Given the description of an element on the screen output the (x, y) to click on. 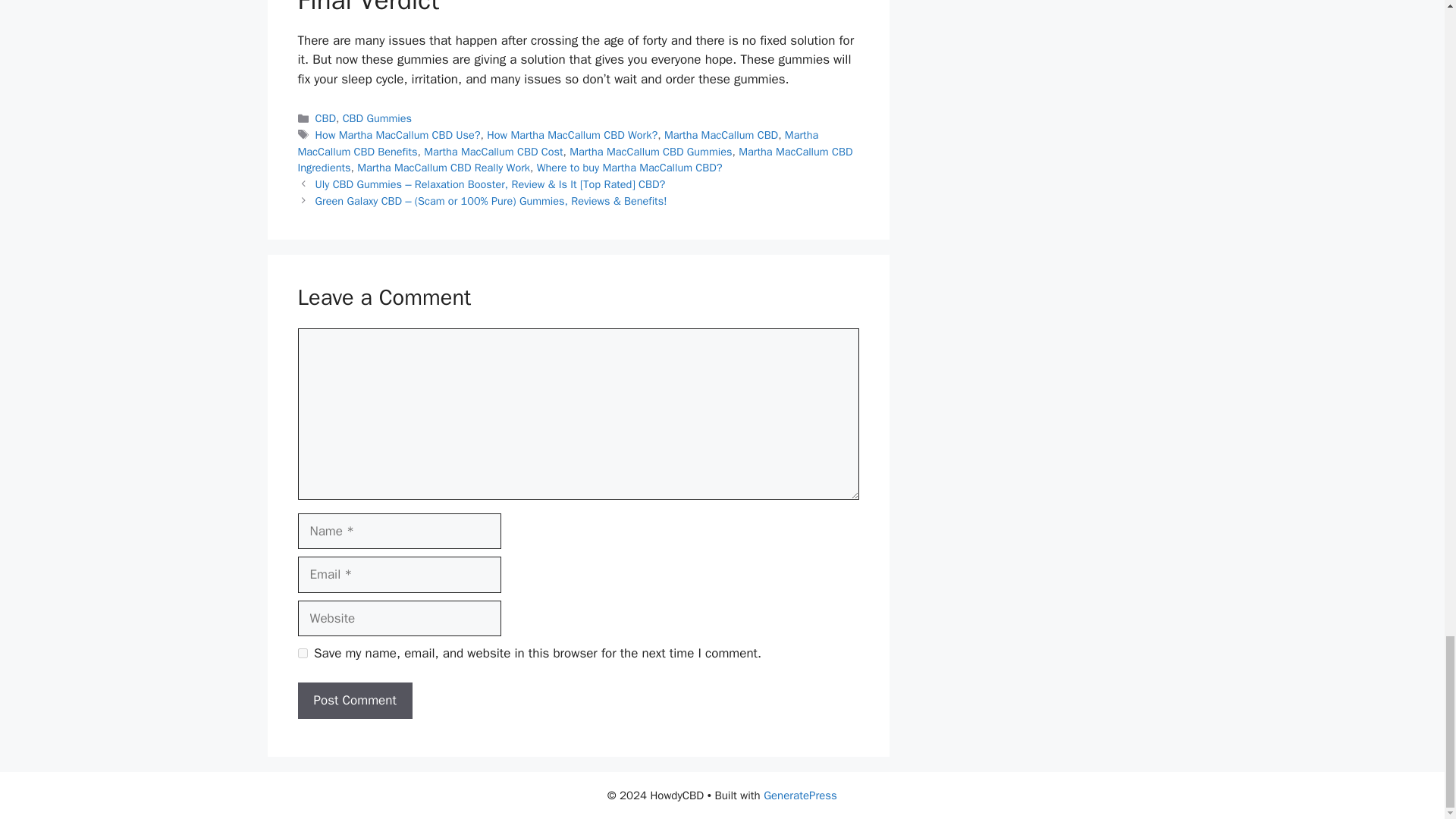
Martha MacCallum CBD Really Work (442, 167)
yes (302, 653)
How Martha MacCallum CBD Use? (397, 134)
Post Comment (354, 700)
Post Comment (354, 700)
How Martha MacCallum CBD Work? (572, 134)
Martha MacCallum CBD Ingredients (574, 159)
Where to buy Martha MacCallum CBD? (629, 167)
GeneratePress (799, 795)
CBD (325, 118)
